Given the description of an element on the screen output the (x, y) to click on. 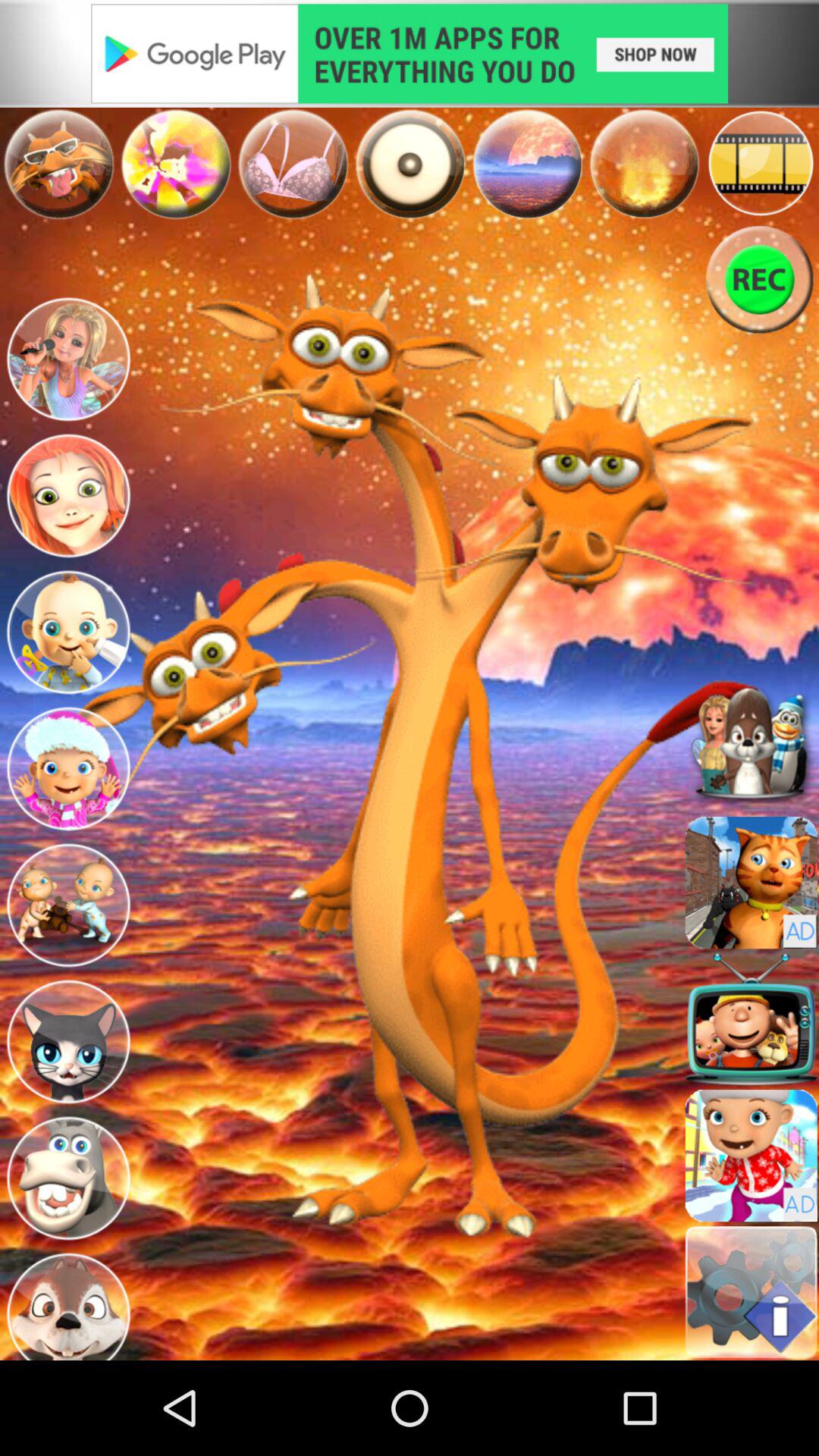
choose the player (68, 1041)
